Given the description of an element on the screen output the (x, y) to click on. 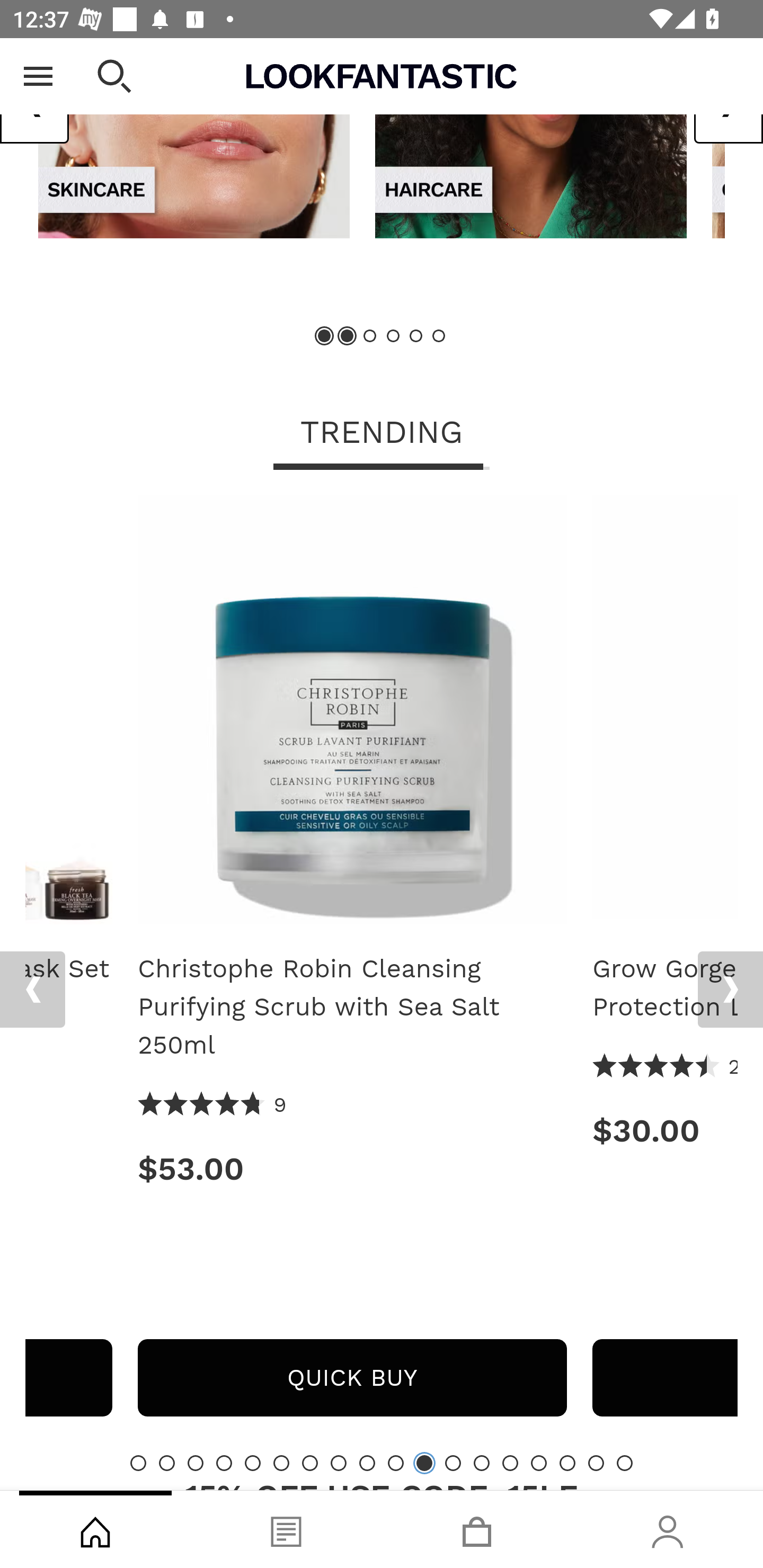
Showing Slide 1 (Current Item) (324, 336)
Showing Slide 2 (Current Item) (347, 336)
Slide 3 (369, 336)
Slide 4 (393, 336)
Slide 5 (415, 336)
Slide 6 (437, 336)
TRENDING (381, 433)
Previous (32, 989)
Next (730, 989)
4.5 Stars 2 Reviews (664, 1066)
4.78 Stars 9 Reviews (211, 1105)
Price: $30.00 (664, 1130)
Price: $53.00 (351, 1168)
Slide 1 (138, 1462)
Slide 2 (166, 1462)
Slide 3 (195, 1462)
Slide 4 (223, 1462)
Slide 5 (252, 1462)
Slide 6 (281, 1462)
Slide 7 (310, 1462)
Slide 8 (338, 1462)
Slide 9 (367, 1462)
Slide 10 (395, 1462)
Showing Slide 11 (Current Item) (424, 1462)
Slide 12 (452, 1462)
Slide 13 (481, 1462)
Slide 14 (510, 1462)
Slide 15 (539, 1462)
Slide 16 (567, 1462)
Slide 17 (596, 1462)
Slide 18 (624, 1462)
Shop, tab, 1 of 4 (95, 1529)
Blog, tab, 2 of 4 (285, 1529)
Basket, tab, 3 of 4 (476, 1529)
Account, tab, 4 of 4 (667, 1529)
